Given the description of an element on the screen output the (x, y) to click on. 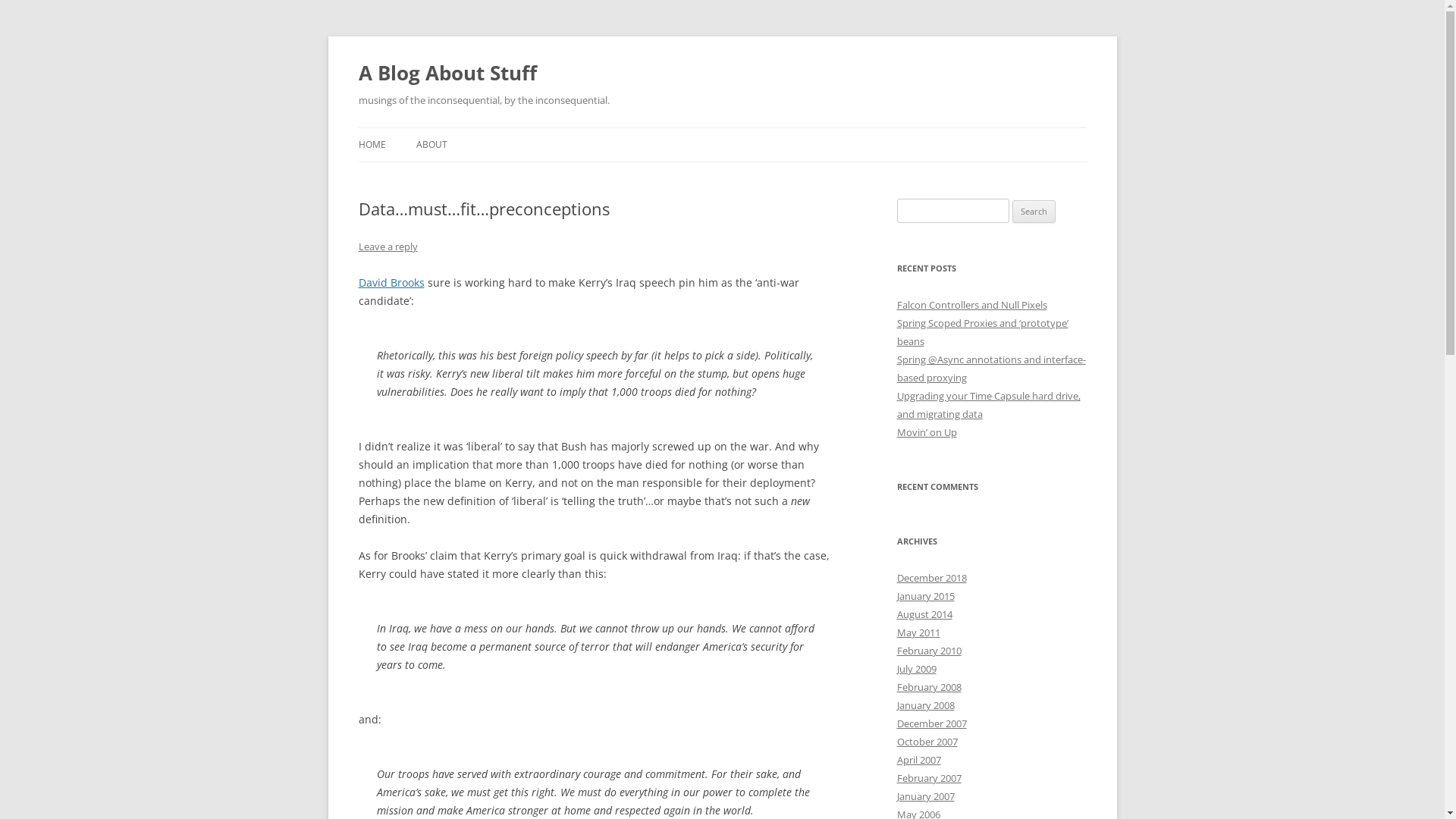
February 2010 Element type: text (928, 650)
April 2007 Element type: text (918, 759)
January 2007 Element type: text (924, 796)
ABOUT Element type: text (430, 144)
Leave a reply Element type: text (387, 246)
May 2011 Element type: text (917, 632)
January 2008 Element type: text (924, 705)
February 2007 Element type: text (928, 777)
HOME Element type: text (371, 144)
July 2009 Element type: text (915, 668)
December 2007 Element type: text (931, 723)
August 2014 Element type: text (923, 614)
A Blog About Stuff Element type: text (446, 72)
October 2007 Element type: text (926, 741)
David Brooks Element type: text (390, 282)
Skip to content Element type: text (721, 127)
Upgrading your Time Capsule hard drive, and migrating data Element type: text (987, 404)
December 2018 Element type: text (931, 577)
Spring @Async annotations and interface-based proxying Element type: text (990, 368)
January 2015 Element type: text (924, 595)
February 2008 Element type: text (928, 686)
Search Element type: text (1033, 211)
Falcon Controllers and Null Pixels Element type: text (971, 304)
